Given the description of an element on the screen output the (x, y) to click on. 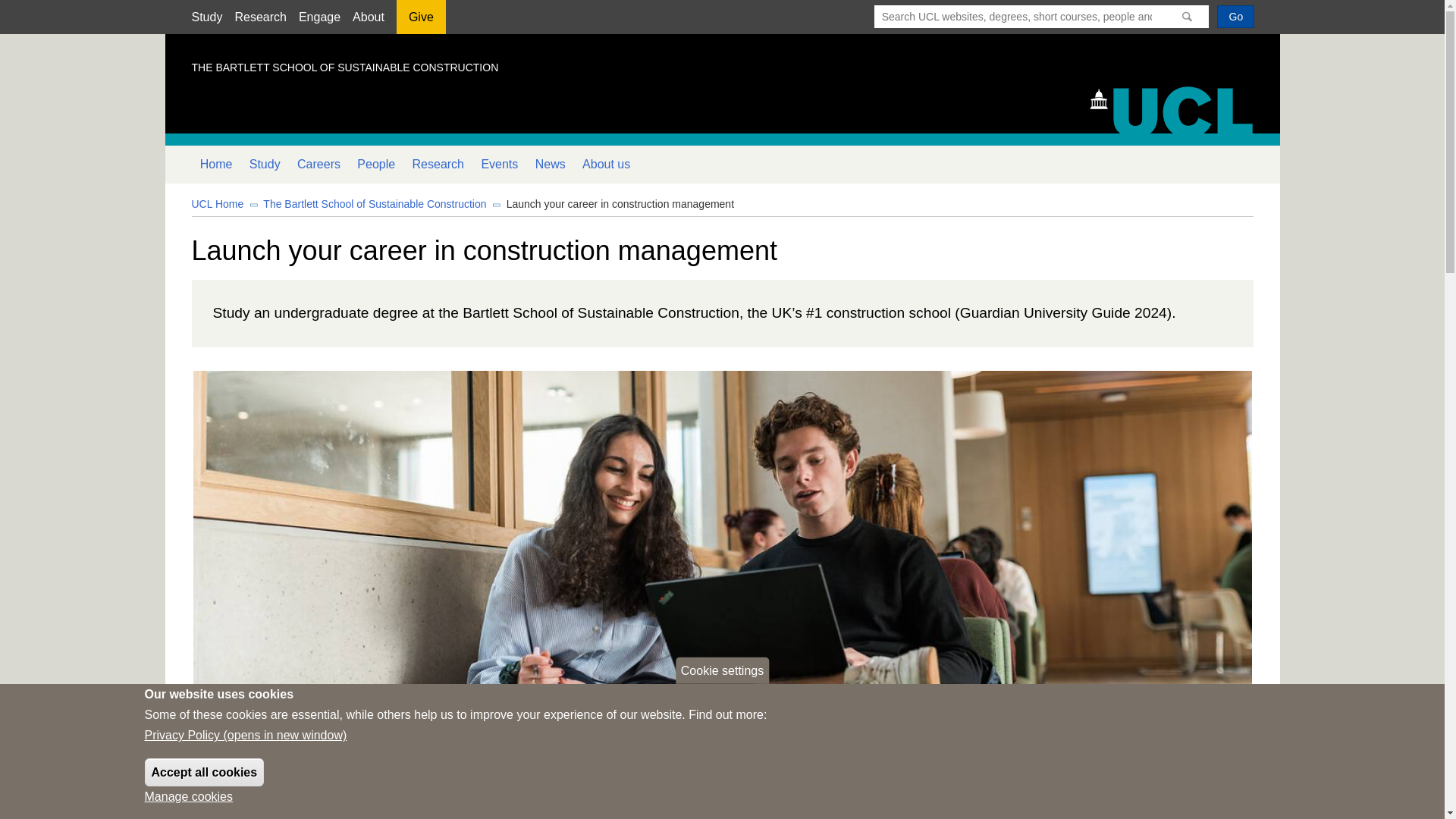
Home (215, 164)
People (376, 164)
The Bartlett School of Sustainable Construction (374, 203)
Study (264, 164)
Home (1178, 108)
UCL Home (216, 203)
Study (206, 16)
Engage (319, 16)
Research (437, 164)
Go (1235, 15)
Careers (318, 164)
About (368, 16)
About us (606, 164)
Give (420, 22)
Research (259, 16)
